Given the description of an element on the screen output the (x, y) to click on. 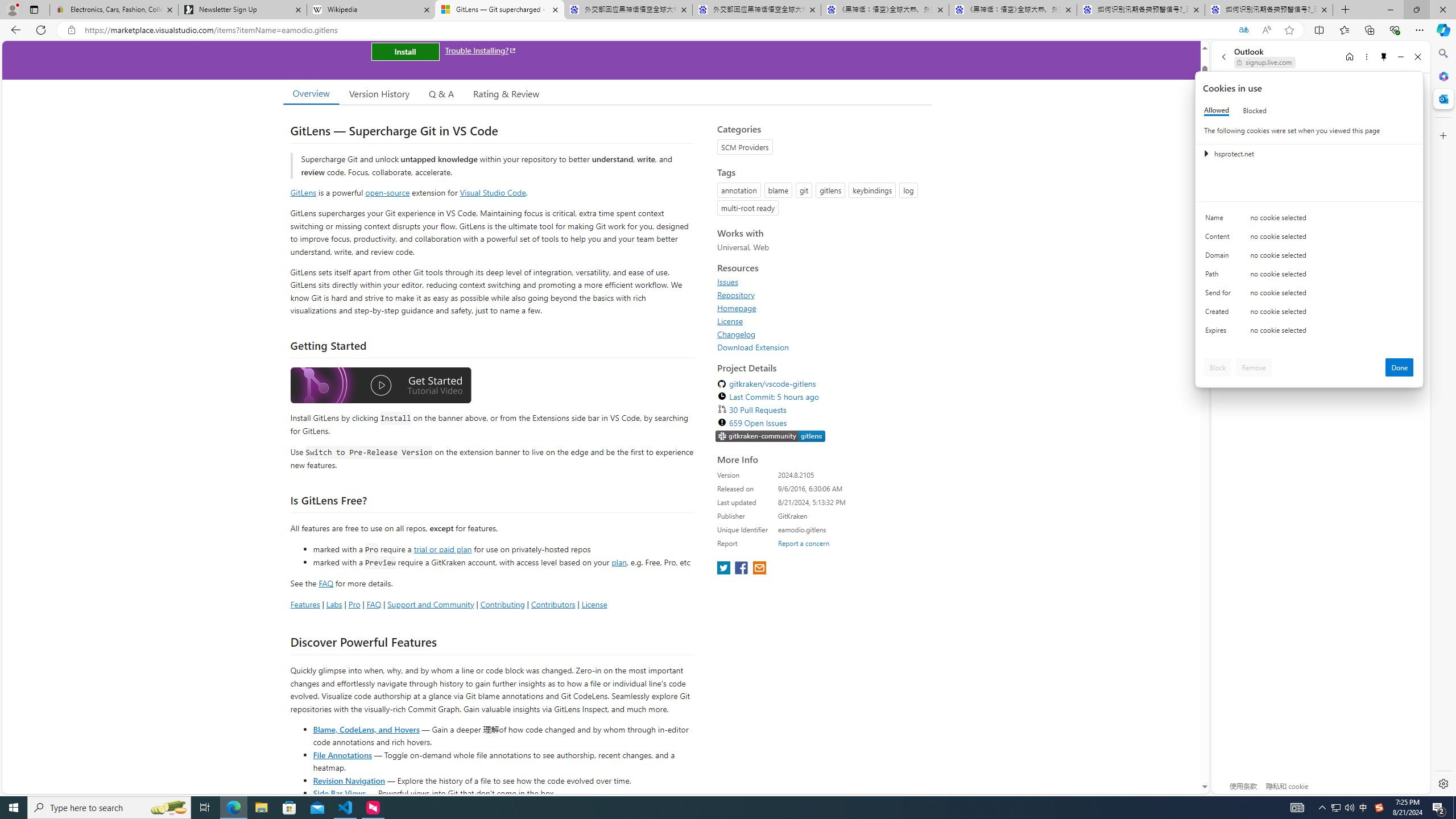
Remove (1253, 367)
Version History (379, 92)
Expires (1219, 332)
Visual Studio Code (492, 192)
Install (405, 51)
Issues (727, 281)
FAQ (373, 603)
Q & A (441, 92)
https://slack.gitkraken.com// (769, 436)
